Given the description of an element on the screen output the (x, y) to click on. 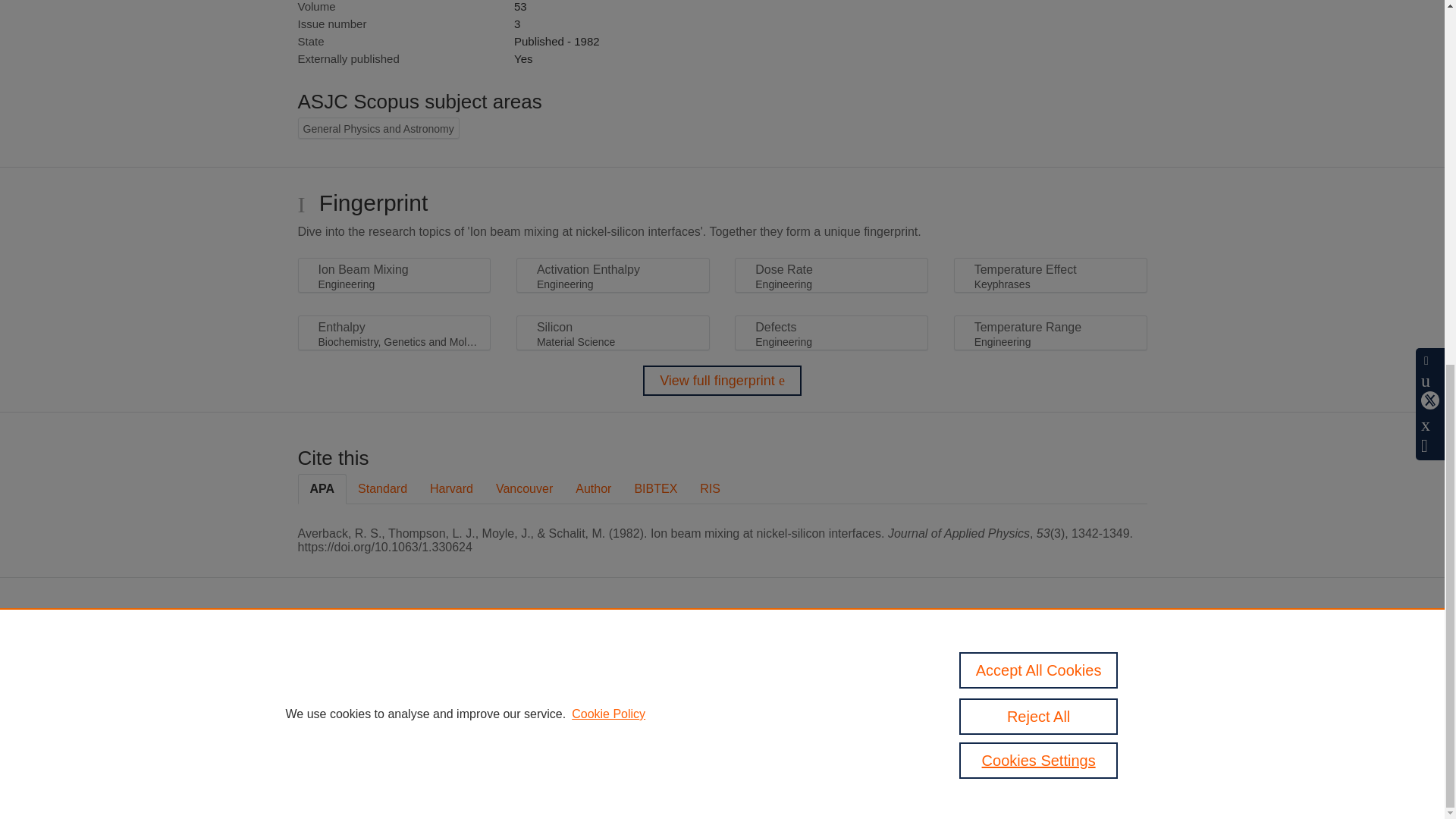
Scopus (652, 653)
Pure (620, 653)
View full fingerprint (722, 380)
